Given the description of an element on the screen output the (x, y) to click on. 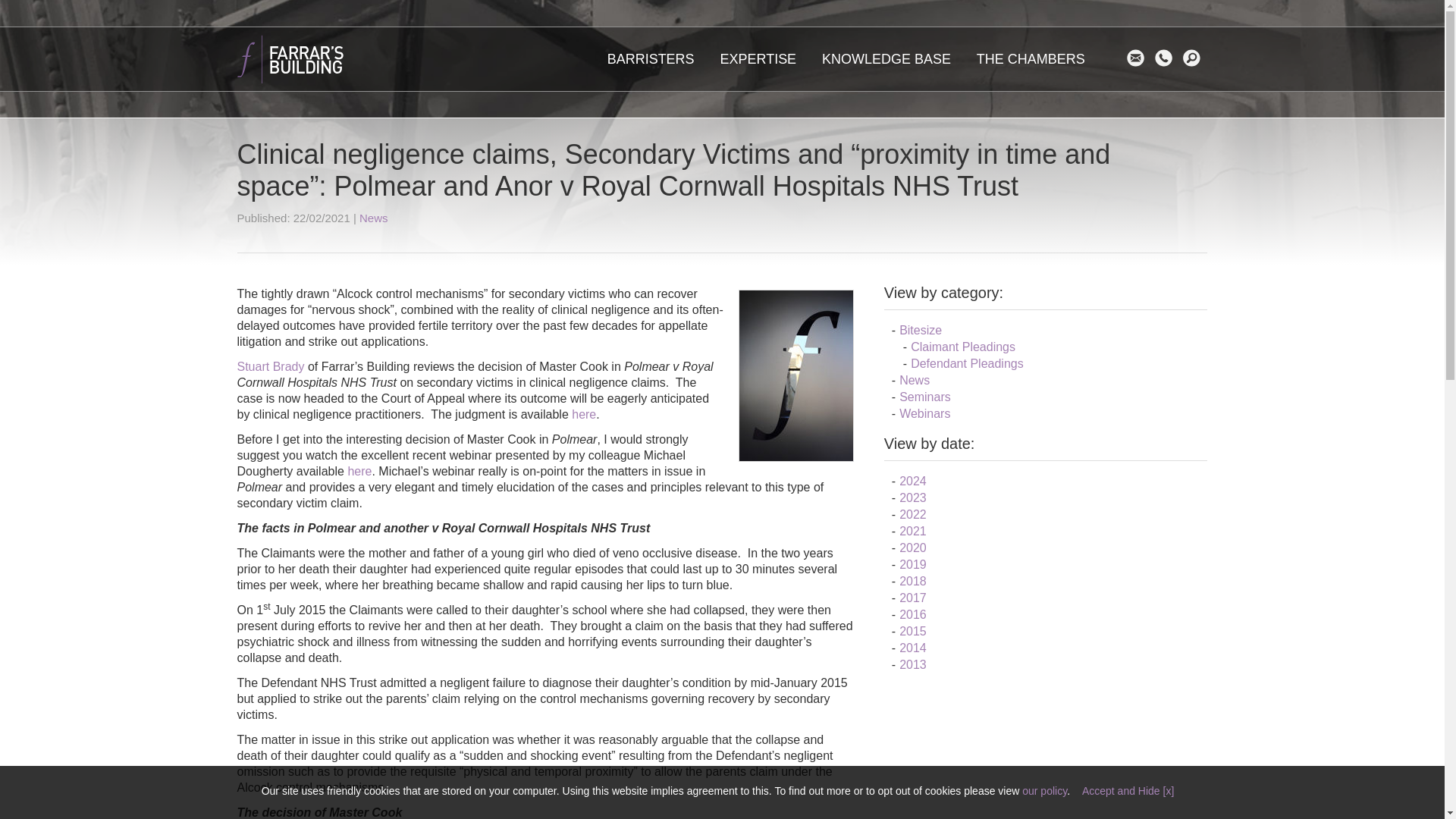
EXPERTISE (757, 58)
CONTACT (1166, 57)
Contact Us (1166, 57)
THE CHAMBERS (1030, 58)
BARRISTERS (650, 58)
Cookie Policy (1044, 790)
SEARCH (1195, 57)
KNOWLEDGE BASE (886, 58)
EMAIL (1138, 57)
Email Us (1138, 57)
